Given the description of an element on the screen output the (x, y) to click on. 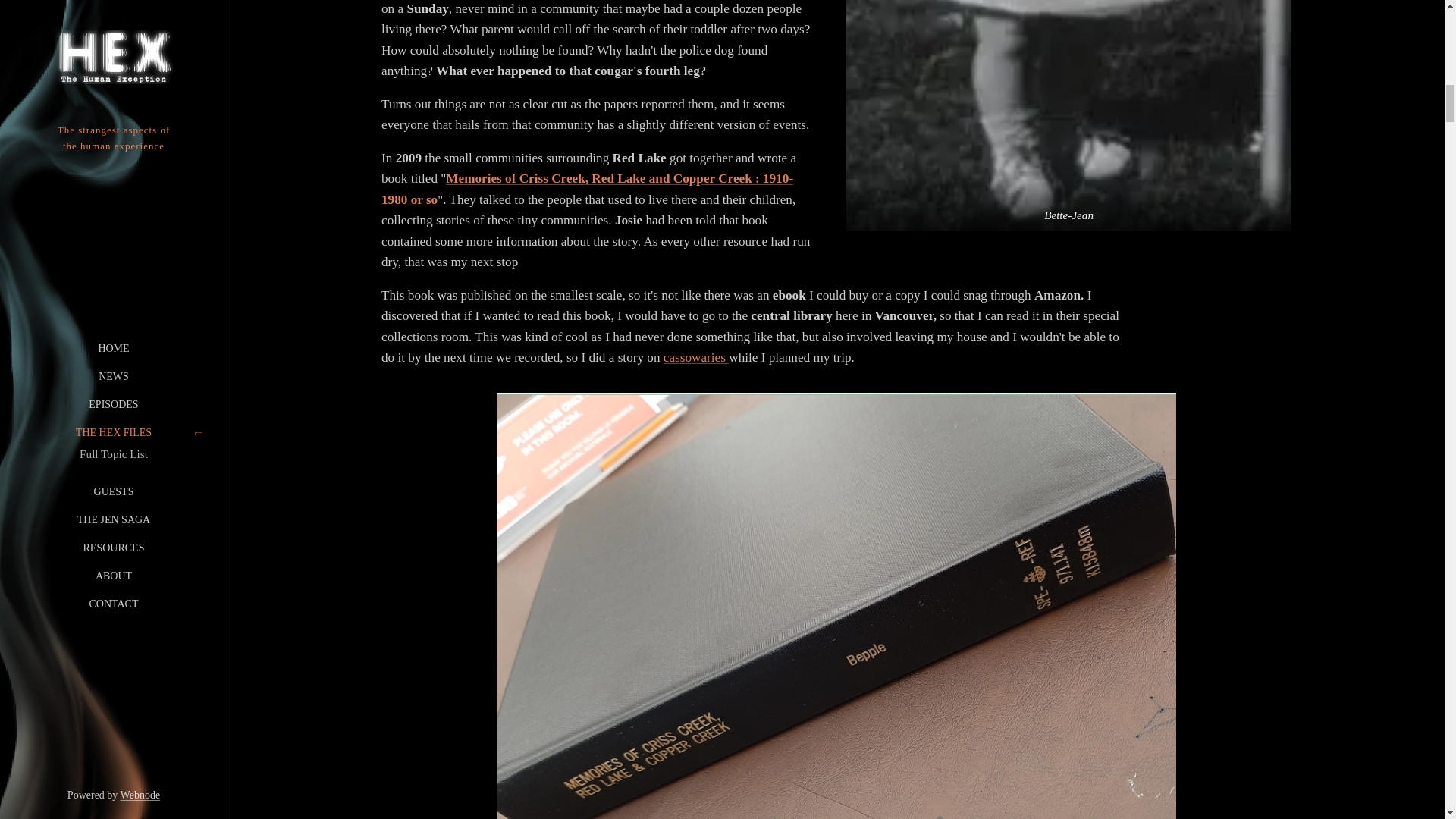
Bette-Jean (1068, 115)
Bette-Jean (1068, 115)
cassowaries (695, 358)
